Given the description of an element on the screen output the (x, y) to click on. 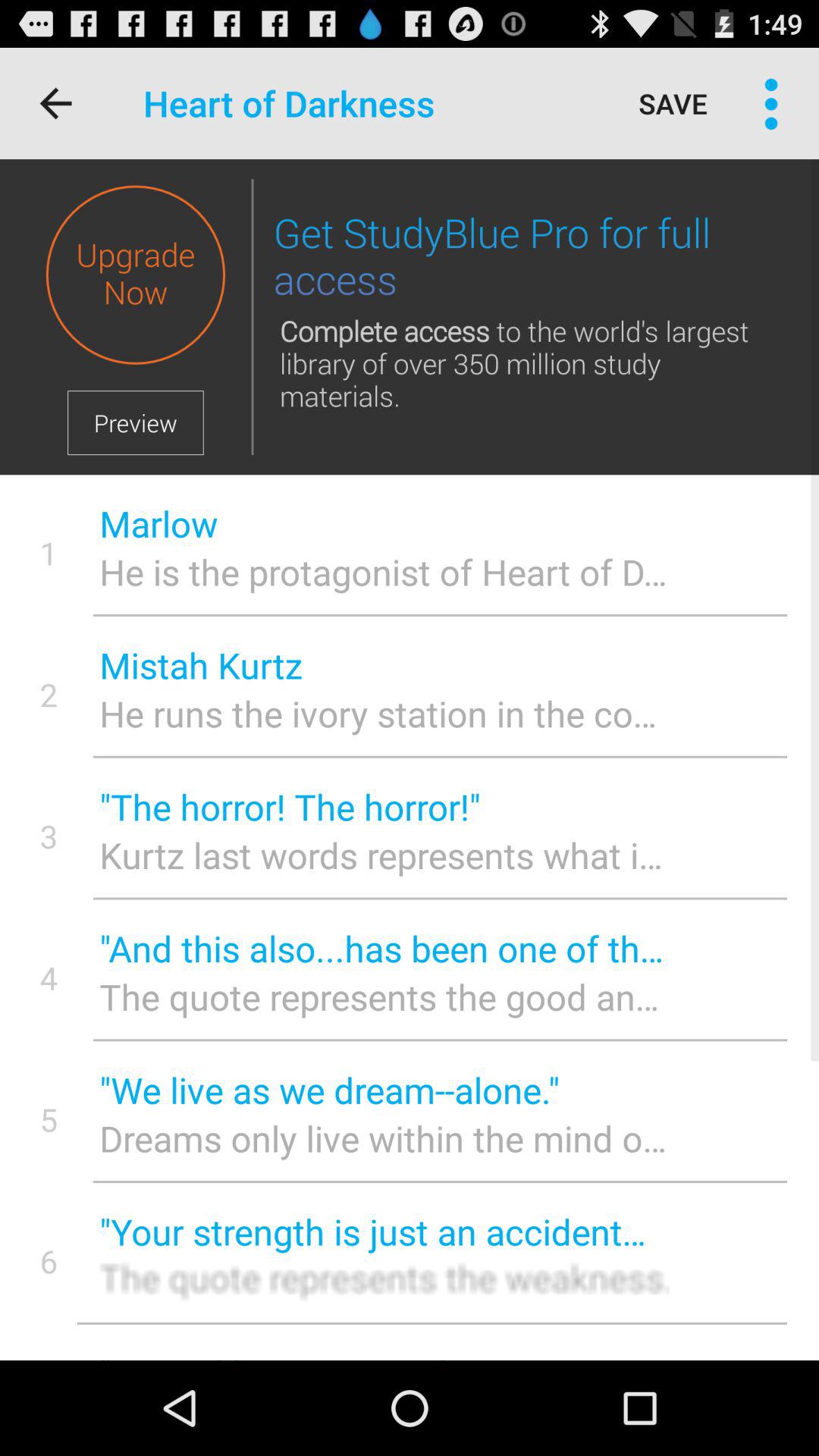
click item above 6 (48, 1118)
